Given the description of an element on the screen output the (x, y) to click on. 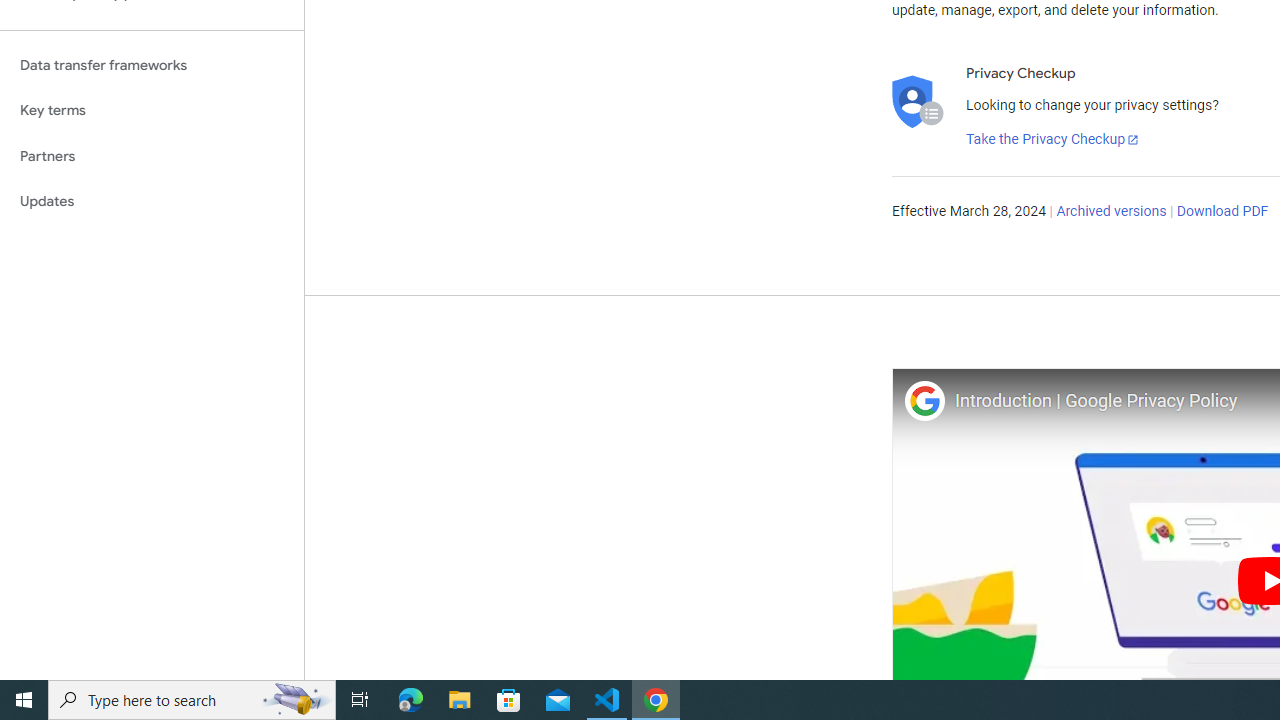
Photo image of Google (924, 400)
Take the Privacy Checkup (1053, 140)
